Given the description of an element on the screen output the (x, y) to click on. 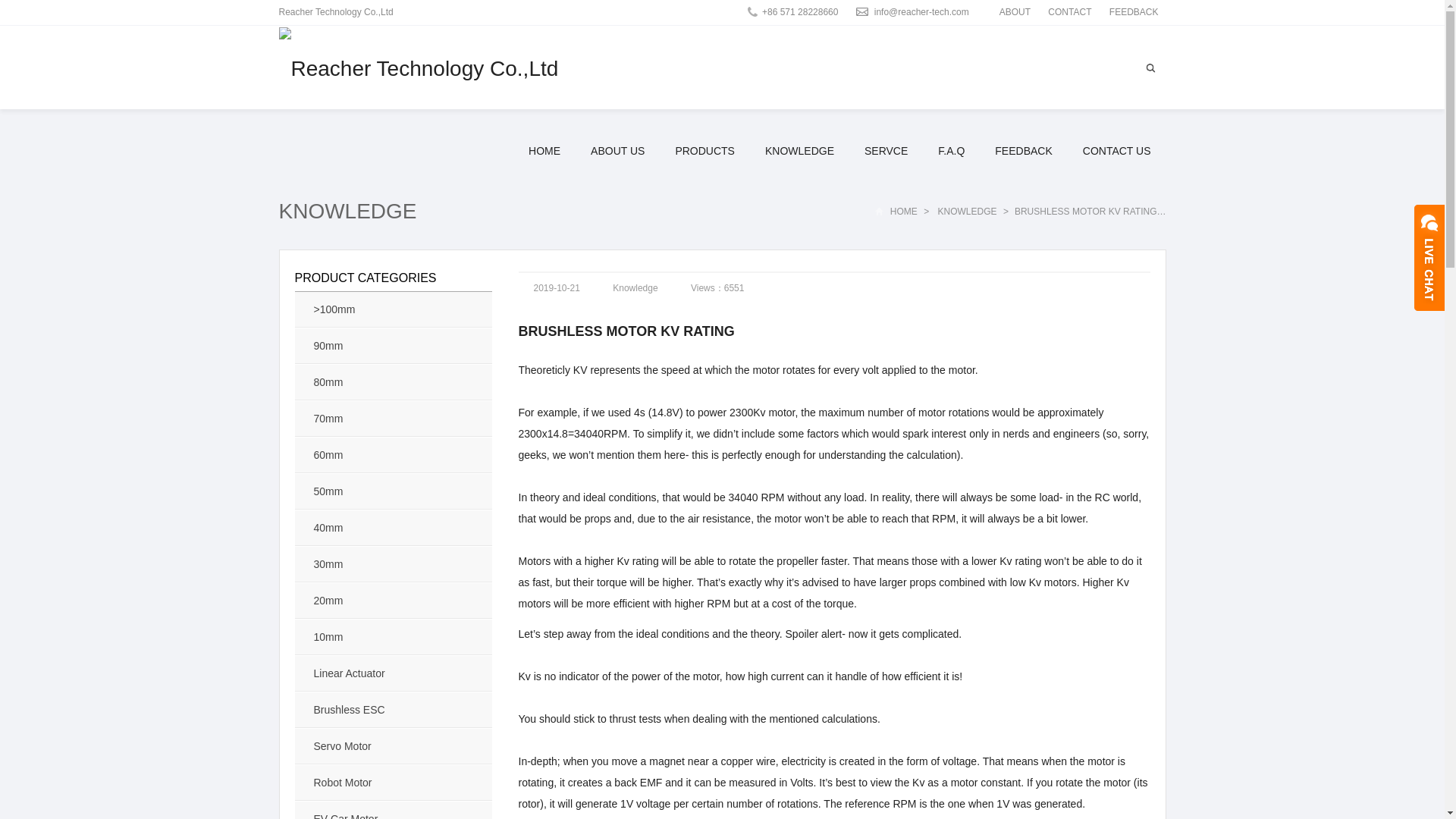
HOME (903, 211)
PRODUCTS (704, 150)
Knowledge (967, 211)
CONTACT (1070, 11)
FEEDBACK (1134, 11)
ABOUT US (617, 150)
Reacher Technology Co.,Ltd (419, 68)
Knowledge (635, 287)
KNOWLEDGE (798, 150)
KNOWLEDGE (347, 210)
